Given the description of an element on the screen output the (x, y) to click on. 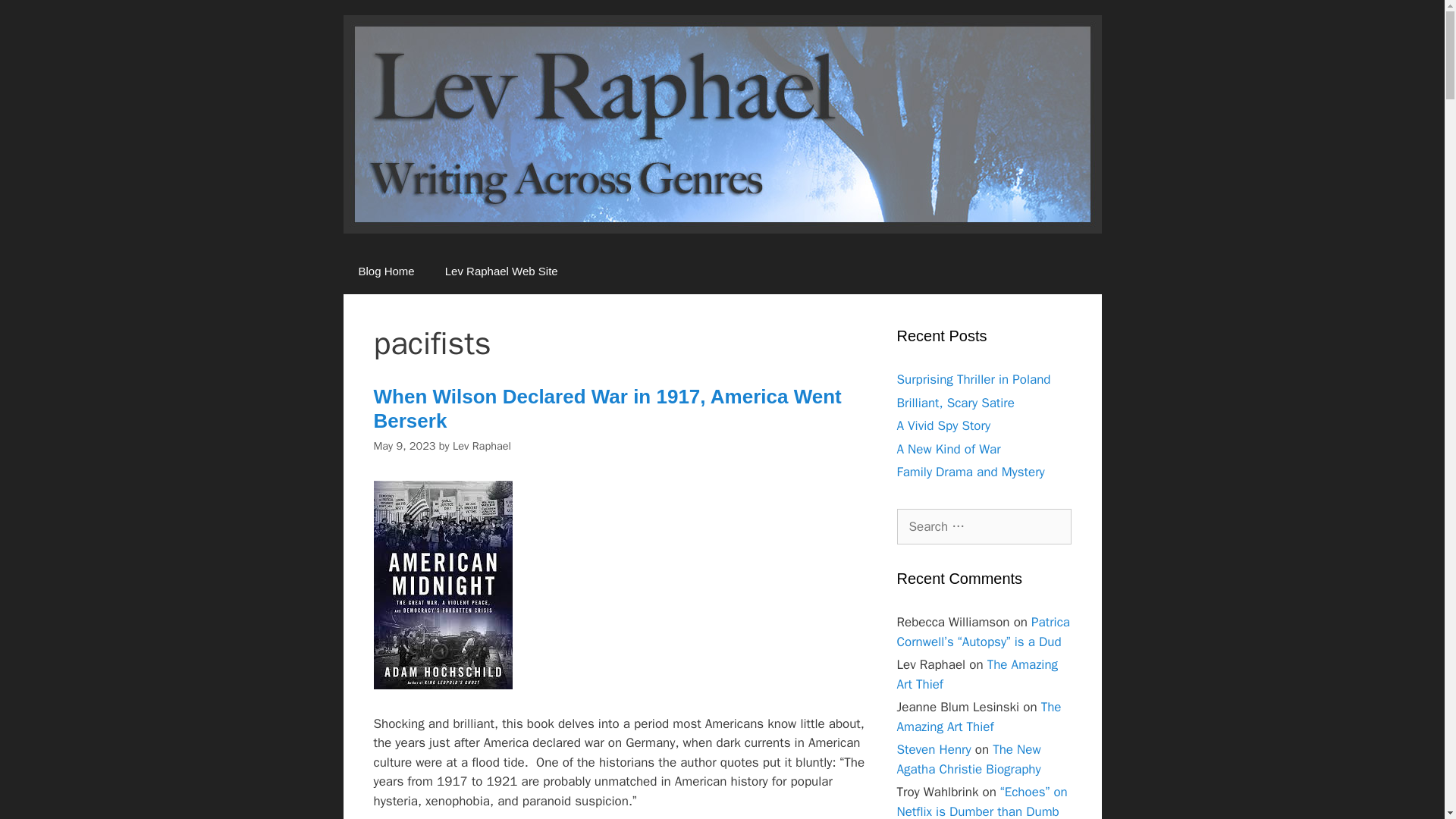
View all posts by Lev Raphael (481, 445)
Lev Raphael Web Site (501, 271)
Blog Home (385, 271)
A Vivid Spy Story (943, 425)
A New Kind of War (948, 449)
The Amazing Art Thief (978, 716)
Family Drama and Mystery (969, 471)
Lev Raphael (481, 445)
When Wilson Declared War in 1917, America Went Berserk (606, 407)
Search (35, 18)
